Given the description of an element on the screen output the (x, y) to click on. 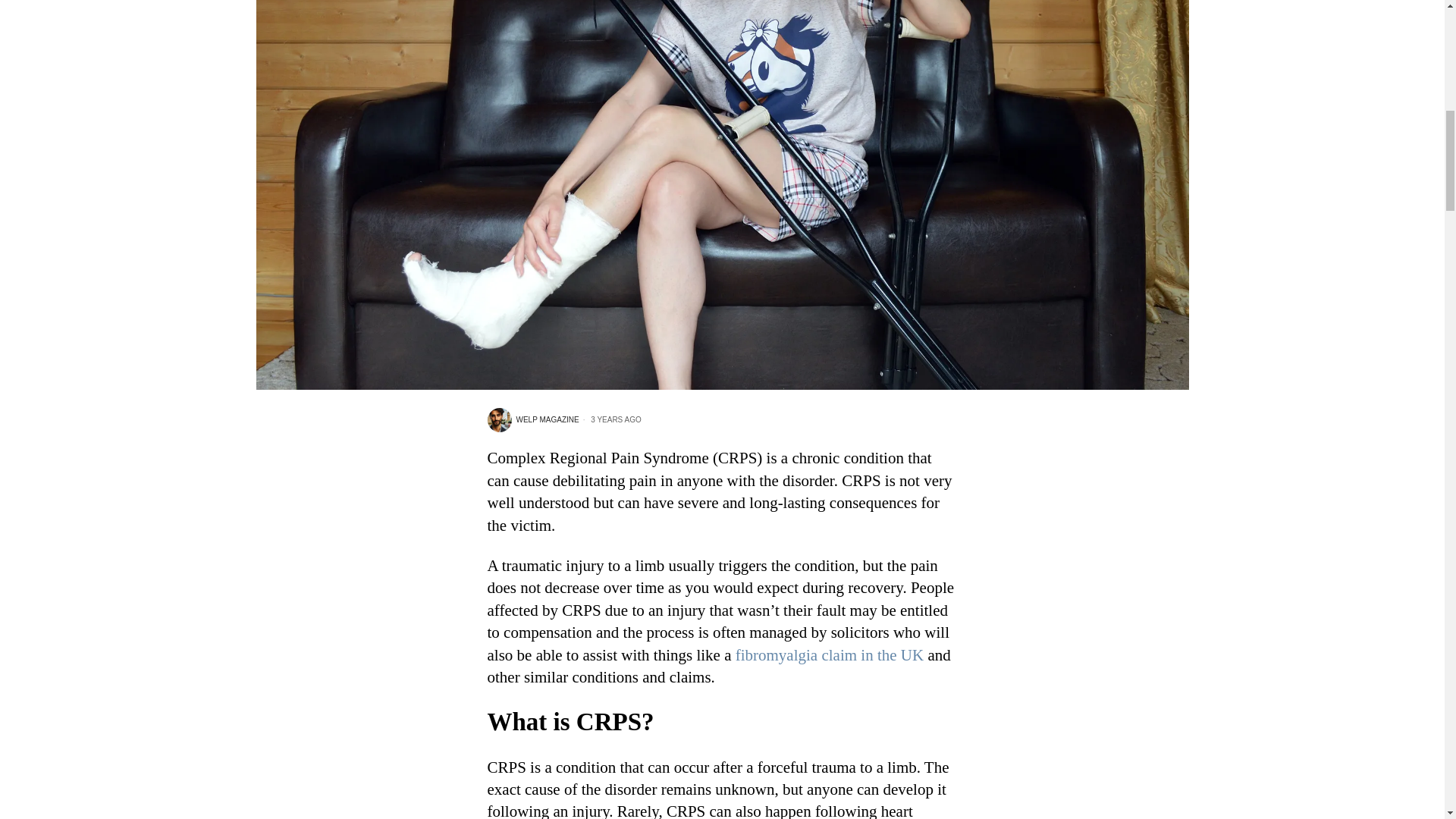
23 Dec, 2021 01:50:02 (610, 419)
WELP MAGAZINE (532, 419)
fibromyalgia claim in the UK (829, 655)
